Given the description of an element on the screen output the (x, y) to click on. 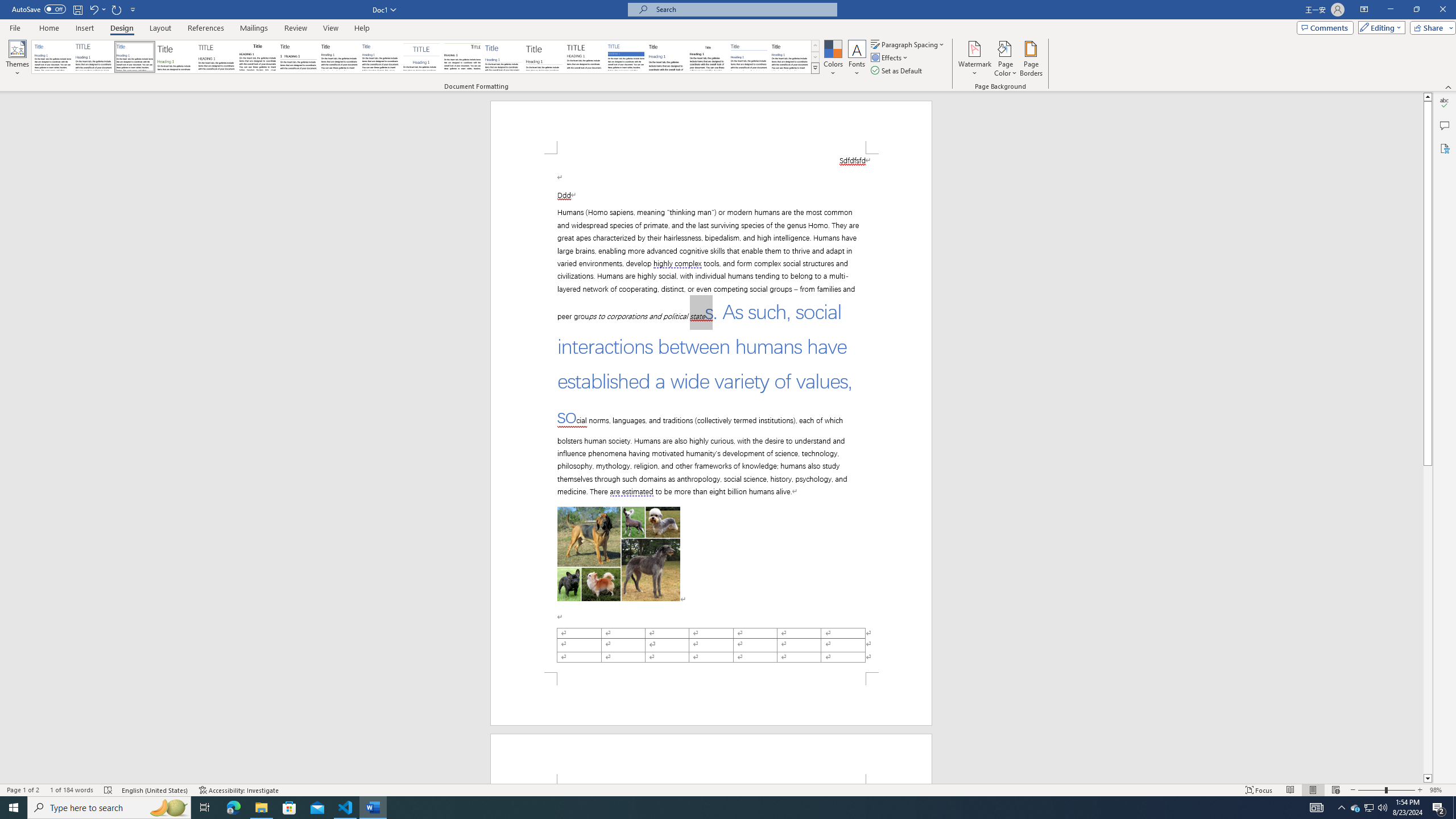
Morphological variation in six dogs (618, 553)
Page 1 content (710, 412)
Shaded (625, 56)
Lines (Distinctive) (462, 56)
